Given the description of an element on the screen output the (x, y) to click on. 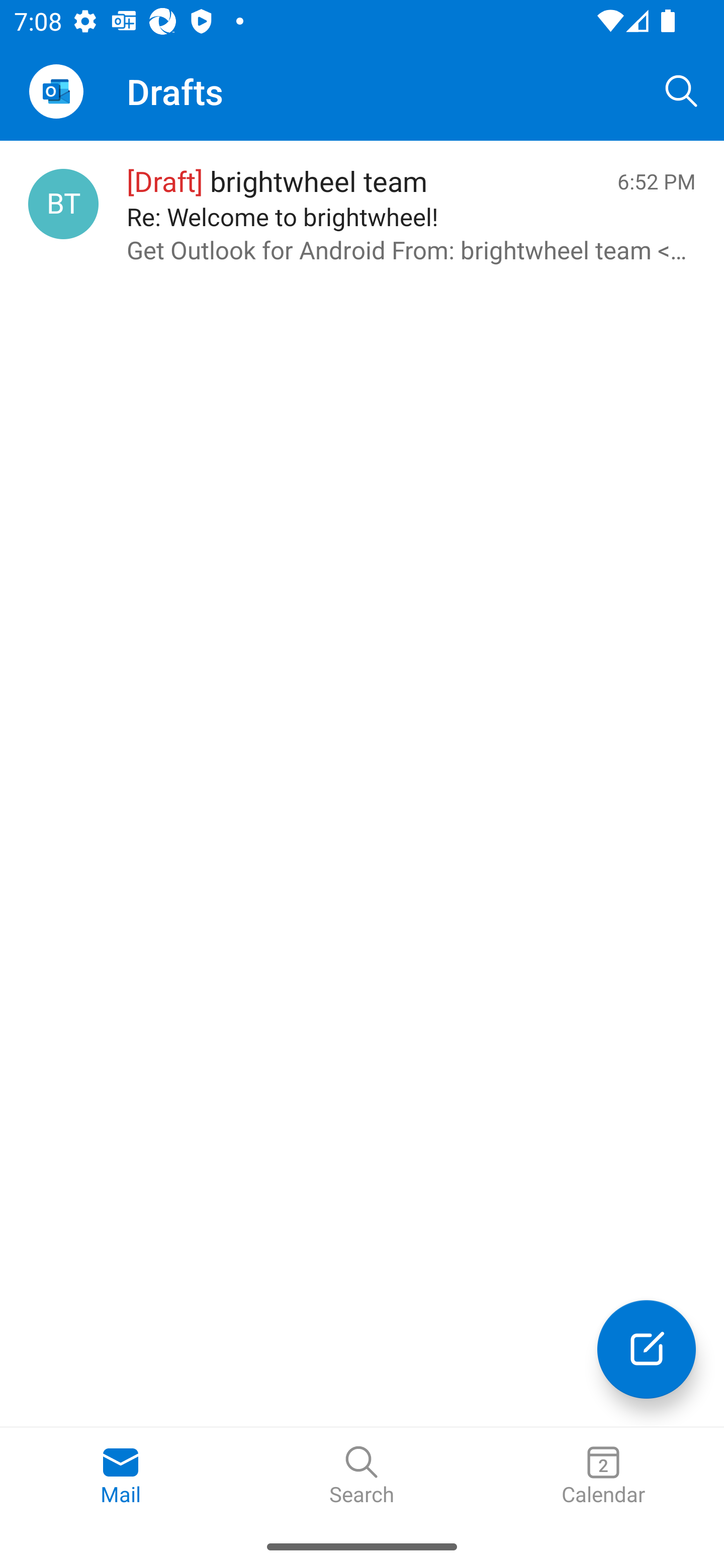
Search (681, 90)
Open Navigation Drawer (55, 91)
brightwheel team, testappium001@outlook.com (63, 204)
Compose (646, 1348)
Search (361, 1475)
Calendar (603, 1475)
